Given the description of an element on the screen output the (x, y) to click on. 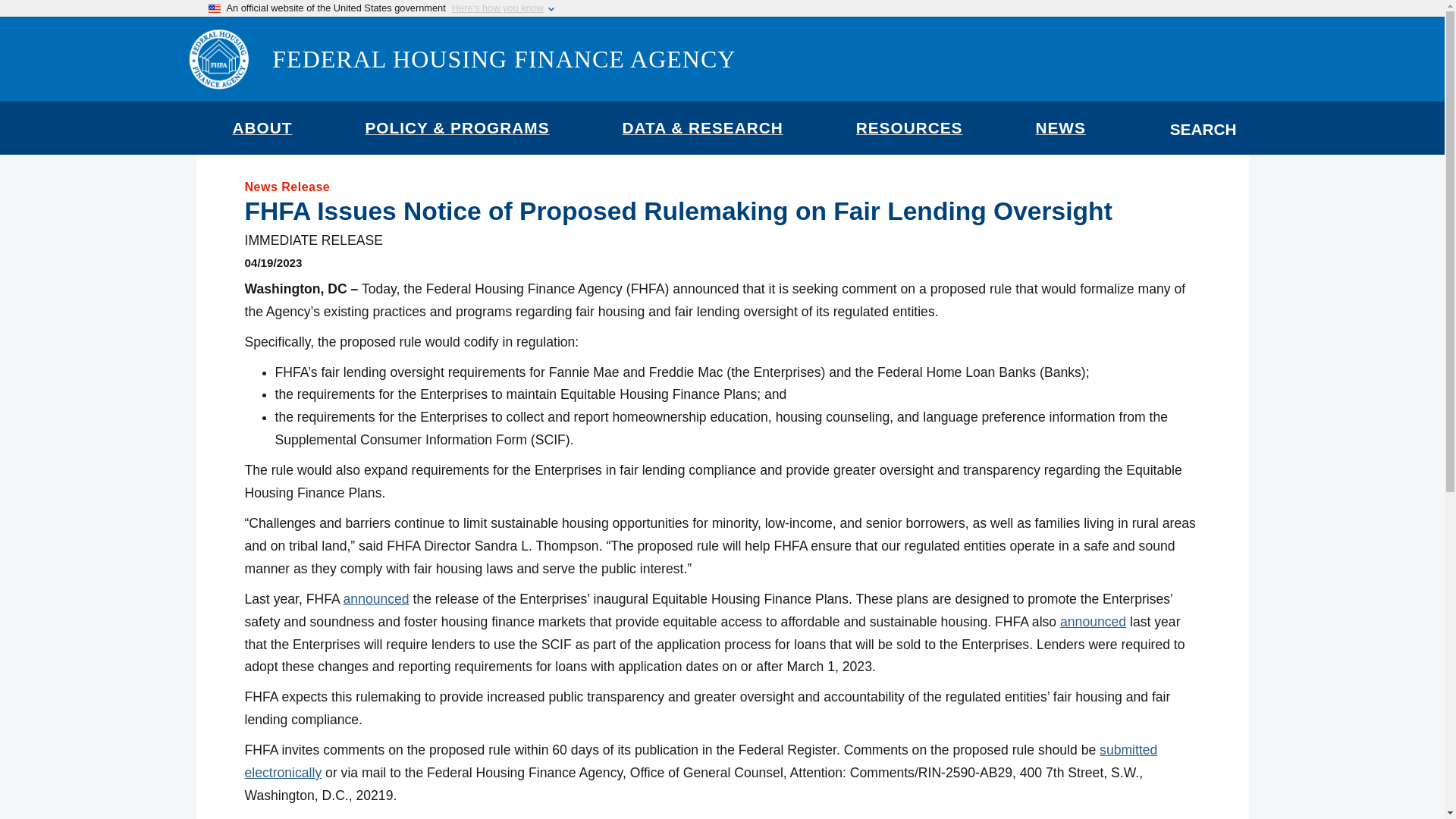
Here's how you know (497, 8)
announced (1092, 621)
SEARCH (1203, 128)
fhfa's logo (218, 58)
FEDERAL HOUSING FINANCE AGENCY (503, 59)
submitted electronically (700, 761)
RESOURCES (909, 134)
NEWS (1059, 134)
ABOUT (261, 134)
announced (376, 598)
Federal Housing Finance Agency (503, 59)
